Given the description of an element on the screen output the (x, y) to click on. 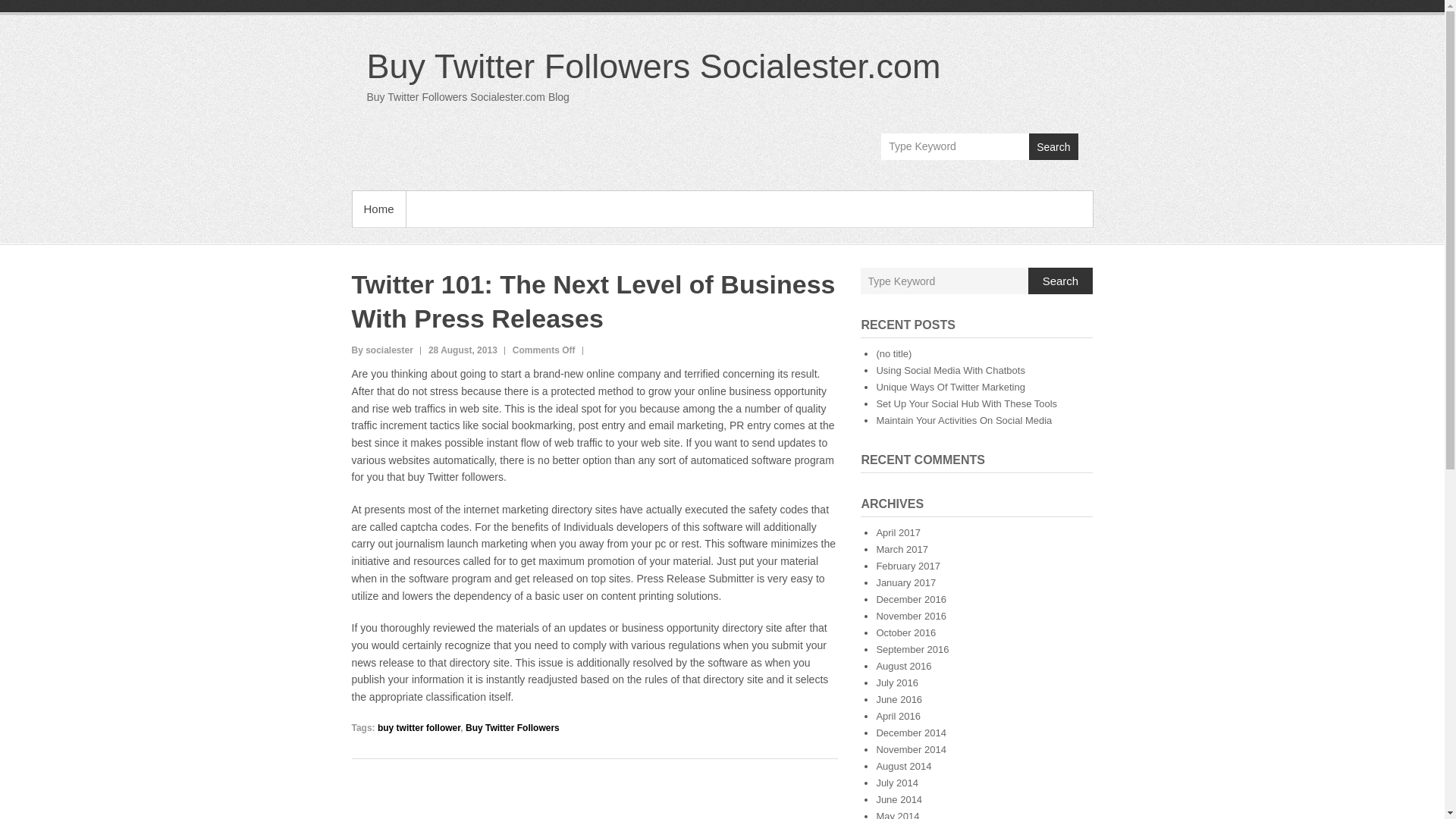
By socialester (382, 349)
April 2016 (898, 715)
Type Keyword (955, 145)
December 2016 (911, 599)
Type Keyword (944, 281)
November 2016 (911, 615)
Buy Twitter Followers (512, 727)
Using Social Media With Chatbots (950, 369)
Home (378, 208)
October 2016 (906, 632)
